Given the description of an element on the screen output the (x, y) to click on. 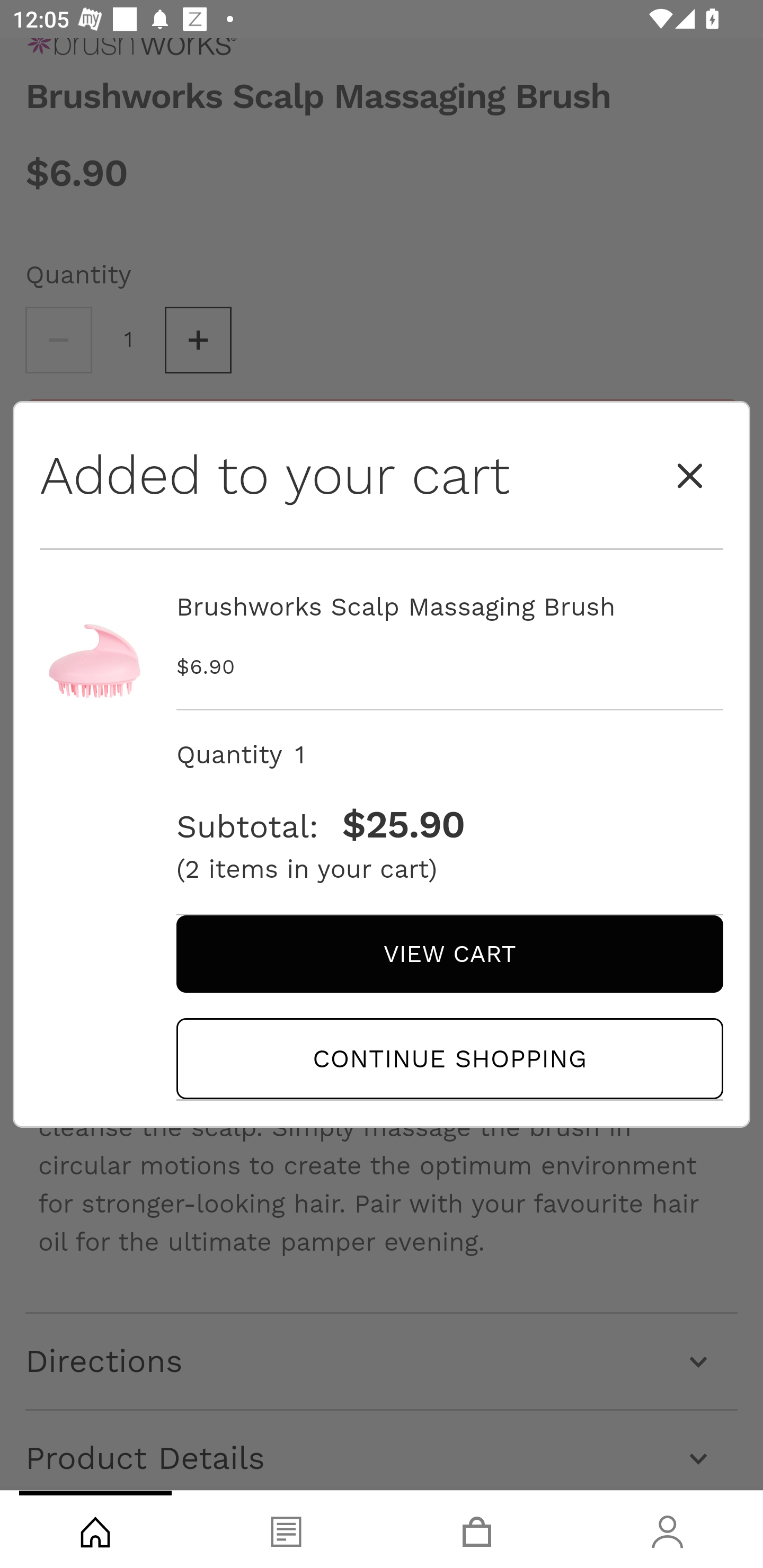
Close (689, 474)
Brushworks Scalp Massaging Brush (95, 645)
Brushworks Scalp Massaging Brush (449, 605)
VIEW CART (449, 953)
CONTINUE SHOPPING (449, 1058)
Shop, tab, 1 of 4 (95, 1529)
Blog, tab, 2 of 4 (285, 1529)
Basket, tab, 3 of 4 (476, 1529)
Account, tab, 4 of 4 (667, 1529)
